Given the description of an element on the screen output the (x, y) to click on. 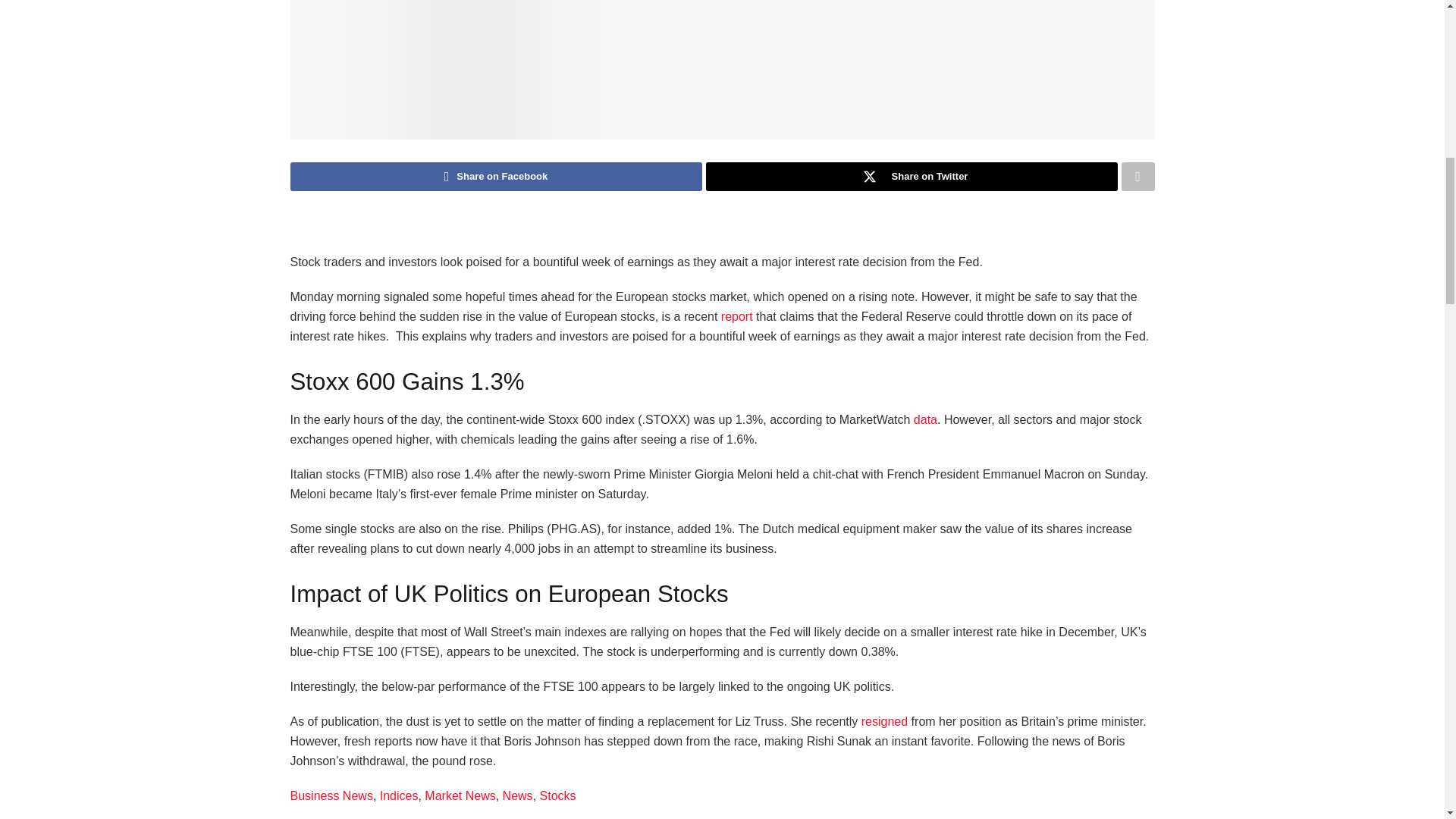
View all posts in Business News (330, 795)
View all posts in Indices (399, 795)
View all posts in Market News (460, 795)
View all posts in News (517, 795)
View all posts in Stocks (558, 795)
